Given the description of an element on the screen output the (x, y) to click on. 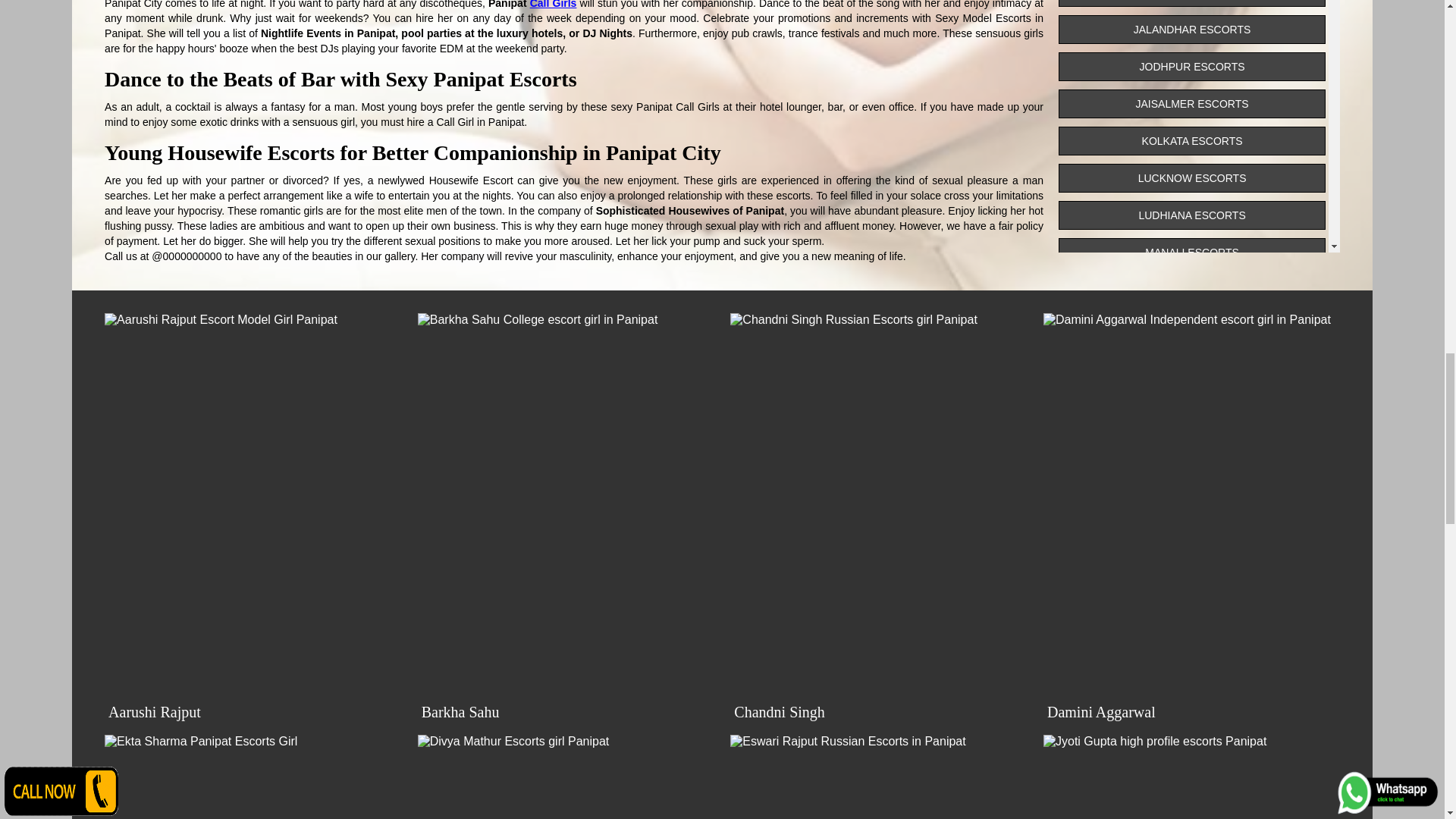
Call Girls (552, 4)
JALANDHAR ESCORTS (1191, 29)
JODHPUR ESCORTS (1191, 66)
JAIPUR ESCORTS (1191, 3)
